Given the description of an element on the screen output the (x, y) to click on. 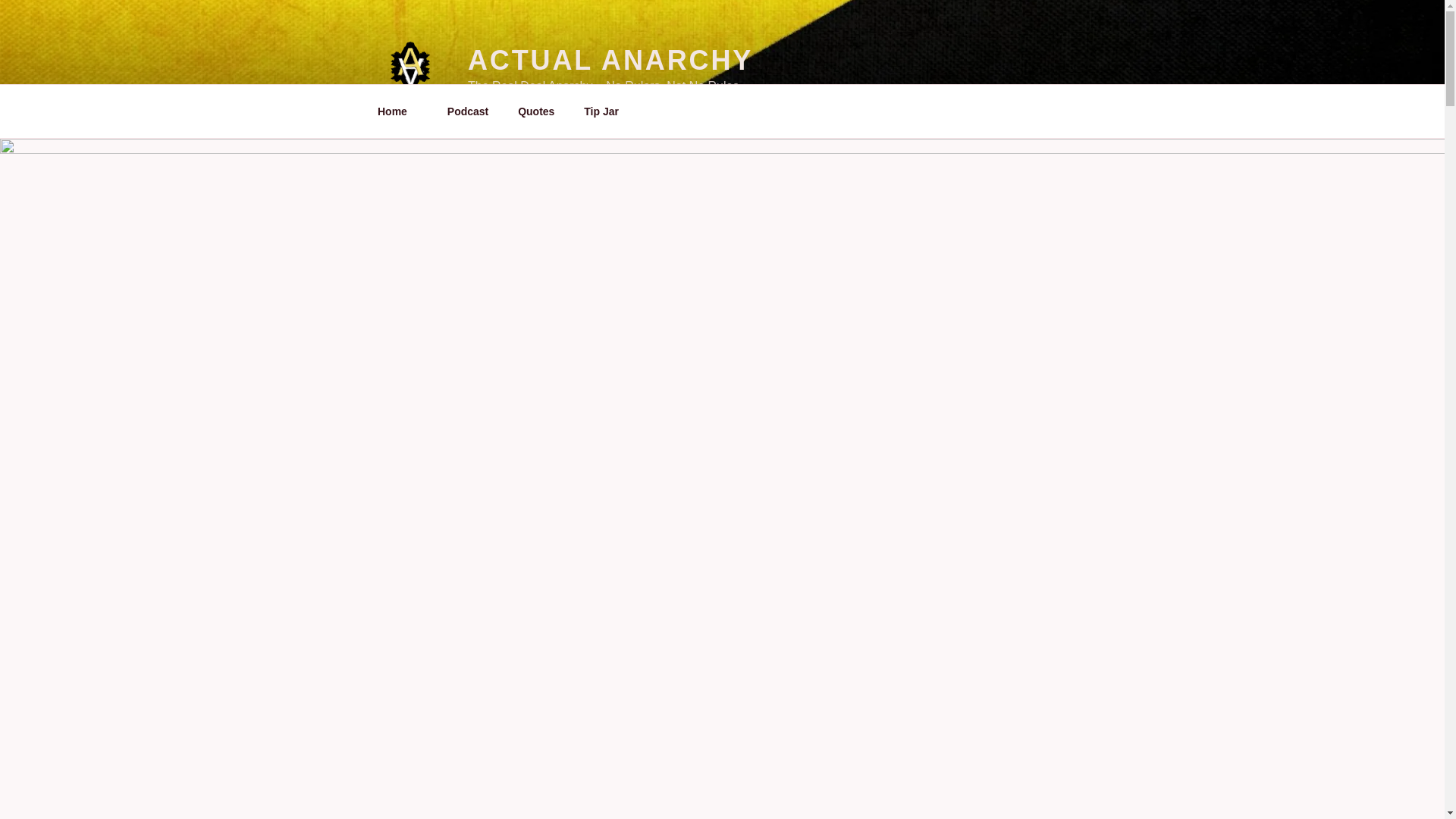
Quotes (536, 110)
ACTUAL ANARCHY (609, 60)
Home (397, 110)
Tip Jar (600, 110)
Podcast (466, 110)
